Given the description of an element on the screen output the (x, y) to click on. 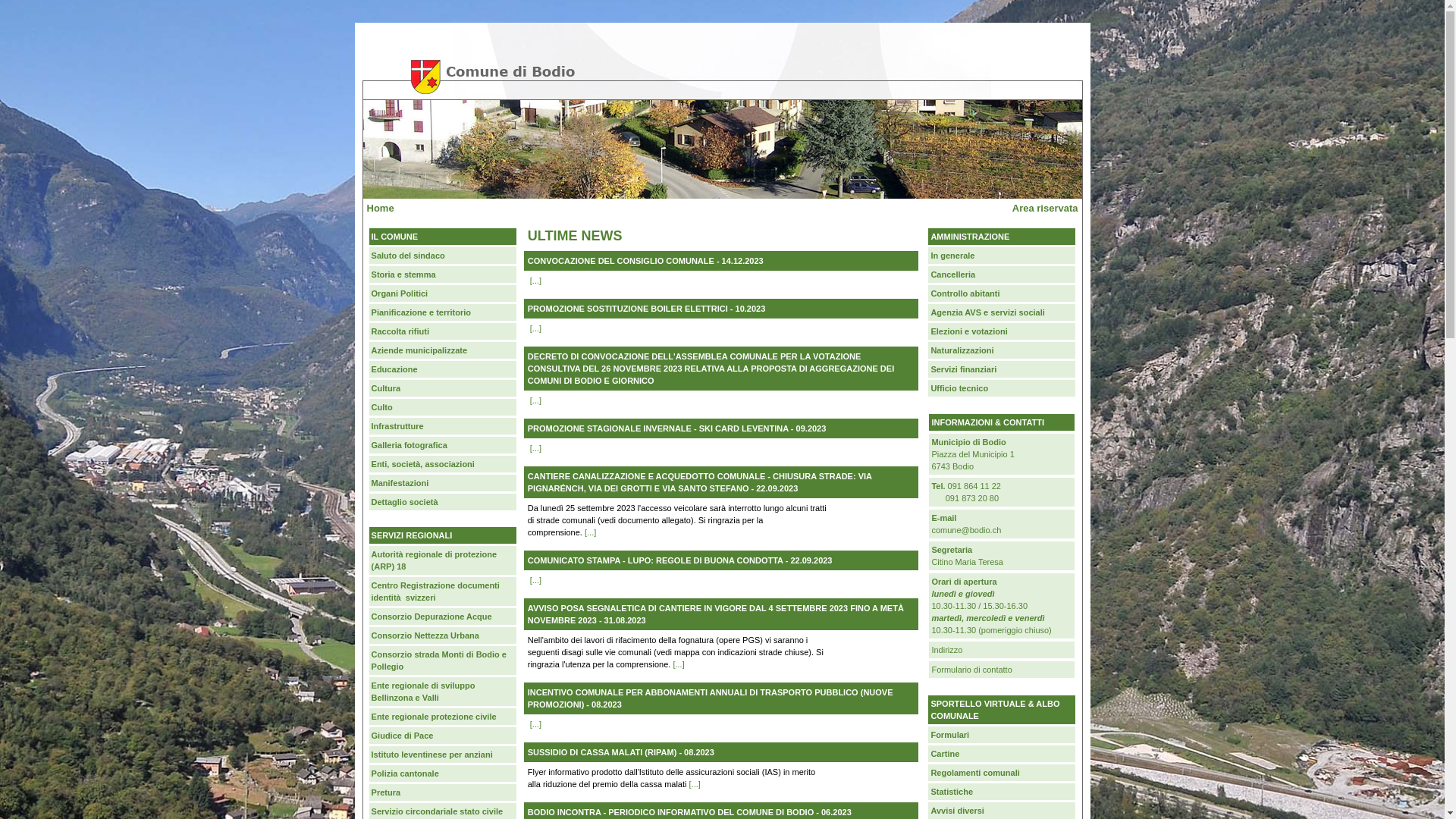
Formulario di contatto Element type: text (1001, 669)
Statistiche Element type: text (1001, 791)
Formulari Element type: text (1001, 734)
Ufficio tecnico Element type: text (1001, 388)
PROMOZIONE SOSTITUZIONE BOILER ELETTRICI - 10.2023 Element type: text (646, 308)
Culto Element type: text (442, 406)
SUSSIDIO DI CASSA MALATI (RIPAM) - 08.2023 Element type: text (620, 751)
Saluto del sindaco Element type: text (442, 255)
Educazione Element type: text (442, 368)
Aziende municipalizzate Element type: text (442, 350)
[...] Element type: text (590, 531)
[...] Element type: text (535, 280)
Servizi finanziari Element type: text (1001, 368)
Polizia cantonale Element type: text (442, 773)
Naturalizzazioni Element type: text (1001, 350)
Indirizzo Element type: text (1001, 649)
Cartine Element type: text (1001, 753)
[...] Element type: text (535, 579)
Agenzia AVS e servizi sociali Element type: text (1001, 312)
Consorzio strada Monti di Bodio e Pollegio Element type: text (442, 660)
[...] Element type: text (678, 663)
Pianificazione e territorio Element type: text (442, 312)
Manifestazioni Element type: text (442, 482)
Home Element type: text (380, 207)
[...] Element type: text (694, 783)
Consorzio Nettezza Urbana Element type: text (442, 635)
Istituto leventinese per anziani Element type: text (442, 754)
Infrastrutture Element type: text (442, 426)
Cancelleria Element type: text (1001, 274)
Organi Politici Element type: text (442, 293)
[...] Element type: text (535, 399)
Galleria fotografica Element type: text (442, 444)
Controllo abitanti Element type: text (1001, 293)
Storia e stemma Element type: text (442, 274)
CONVOCAZIONE DEL CONSIGLIO COMUNALE - 14.12.2023 Element type: text (645, 260)
Consorzio Depurazione Acque Element type: text (442, 616)
[...] Element type: text (535, 327)
Pretura Element type: text (442, 792)
Ente regionale protezione civile Element type: text (442, 716)
Area riservata Element type: text (1045, 207)
Regolamenti comunali Element type: text (1001, 772)
Ente regionale di sviluppo Bellinzona e Valli Element type: text (442, 691)
Cultura Element type: text (442, 388)
[...] Element type: text (535, 723)
In generale Element type: text (1001, 255)
Elezioni e votazioni Element type: text (1001, 331)
Giudice di Pace Element type: text (442, 735)
[...] Element type: text (535, 447)
Raccolta rifiuti Element type: text (442, 331)
comune@bodio.ch Element type: text (966, 529)
